Given the description of an element on the screen output the (x, y) to click on. 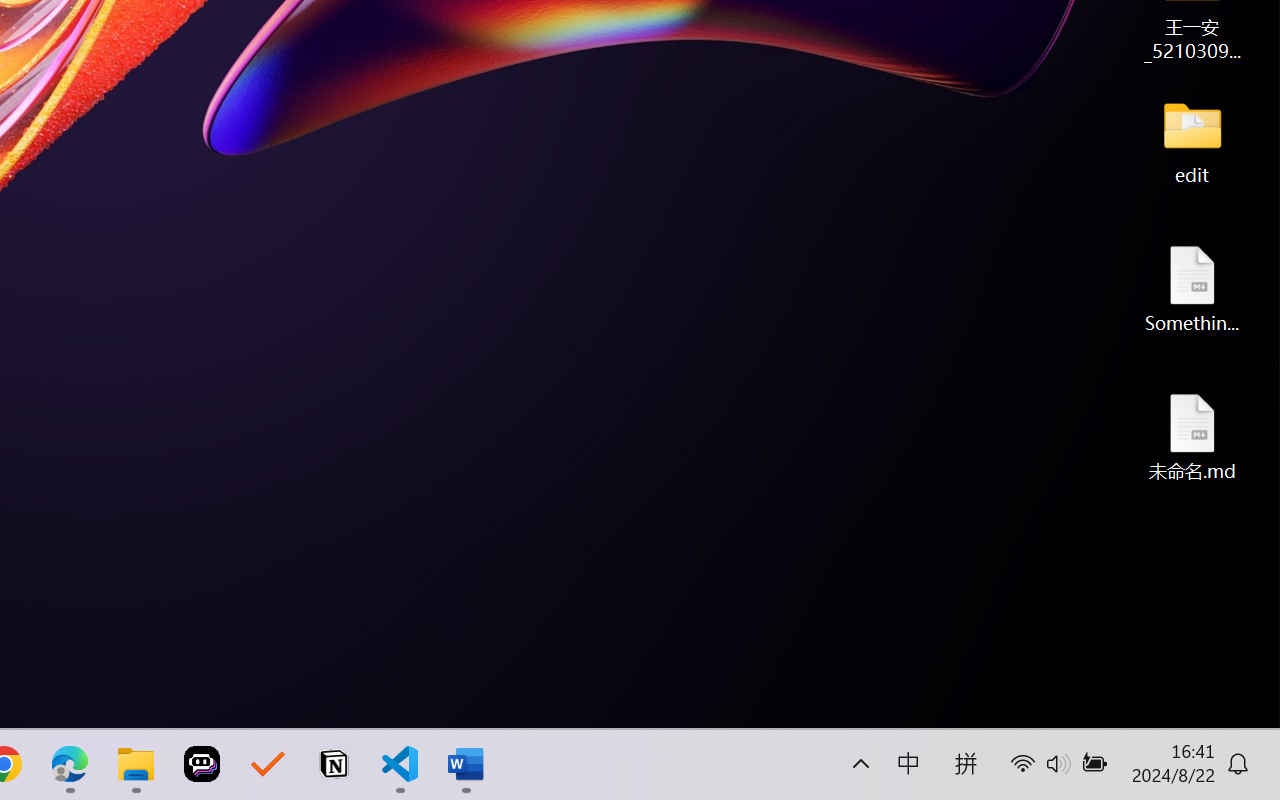
Something.md (1192, 288)
Poe (201, 764)
Notion (333, 764)
edit (1192, 140)
